Given the description of an element on the screen output the (x, y) to click on. 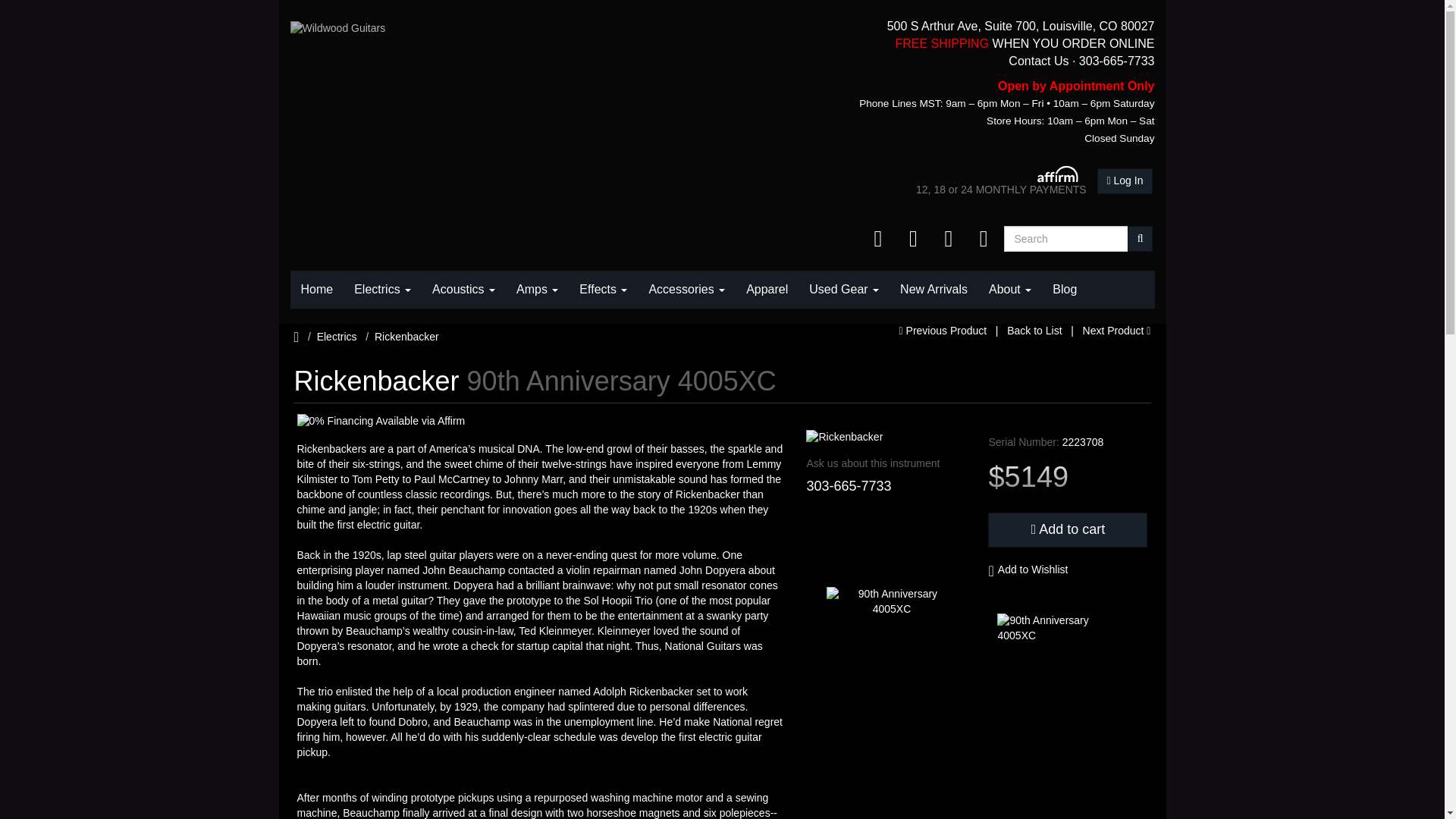
Wildwood Guitars on YouTube (913, 238)
Acoustics (463, 289)
Electrics (382, 289)
Contact Us (1038, 60)
Electrics (382, 289)
Log In To My Account (1125, 181)
Wildwood Guitars on Twitter (948, 238)
303-665-7733 (1116, 60)
Log In (1125, 181)
12, 18 or 24 MONTHLY PAYMENTS (1000, 181)
